Given the description of an element on the screen output the (x, y) to click on. 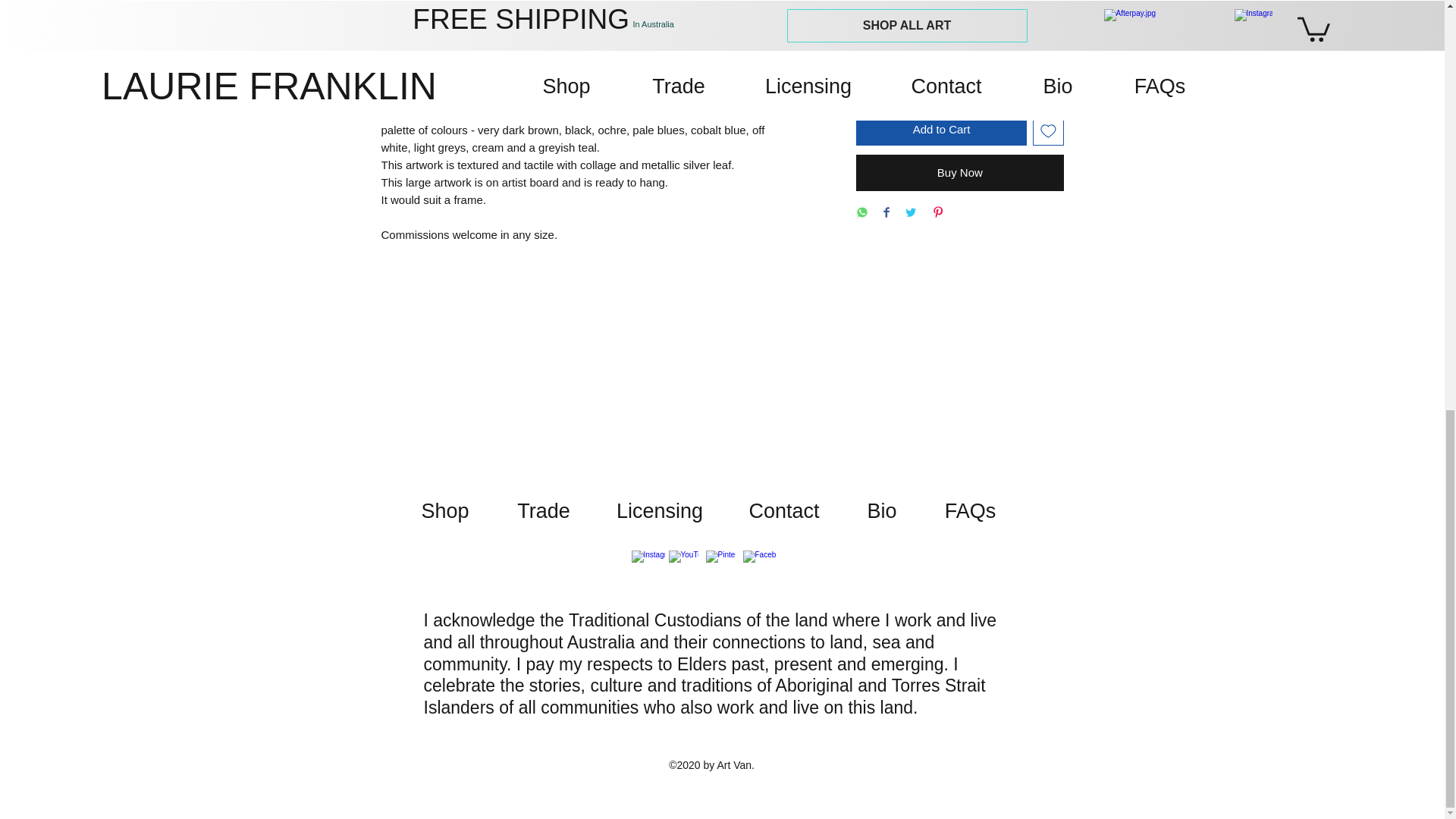
Add to Cart (941, 129)
Shop (445, 510)
1 (893, 73)
Buy Now (959, 172)
